Given the description of an element on the screen output the (x, y) to click on. 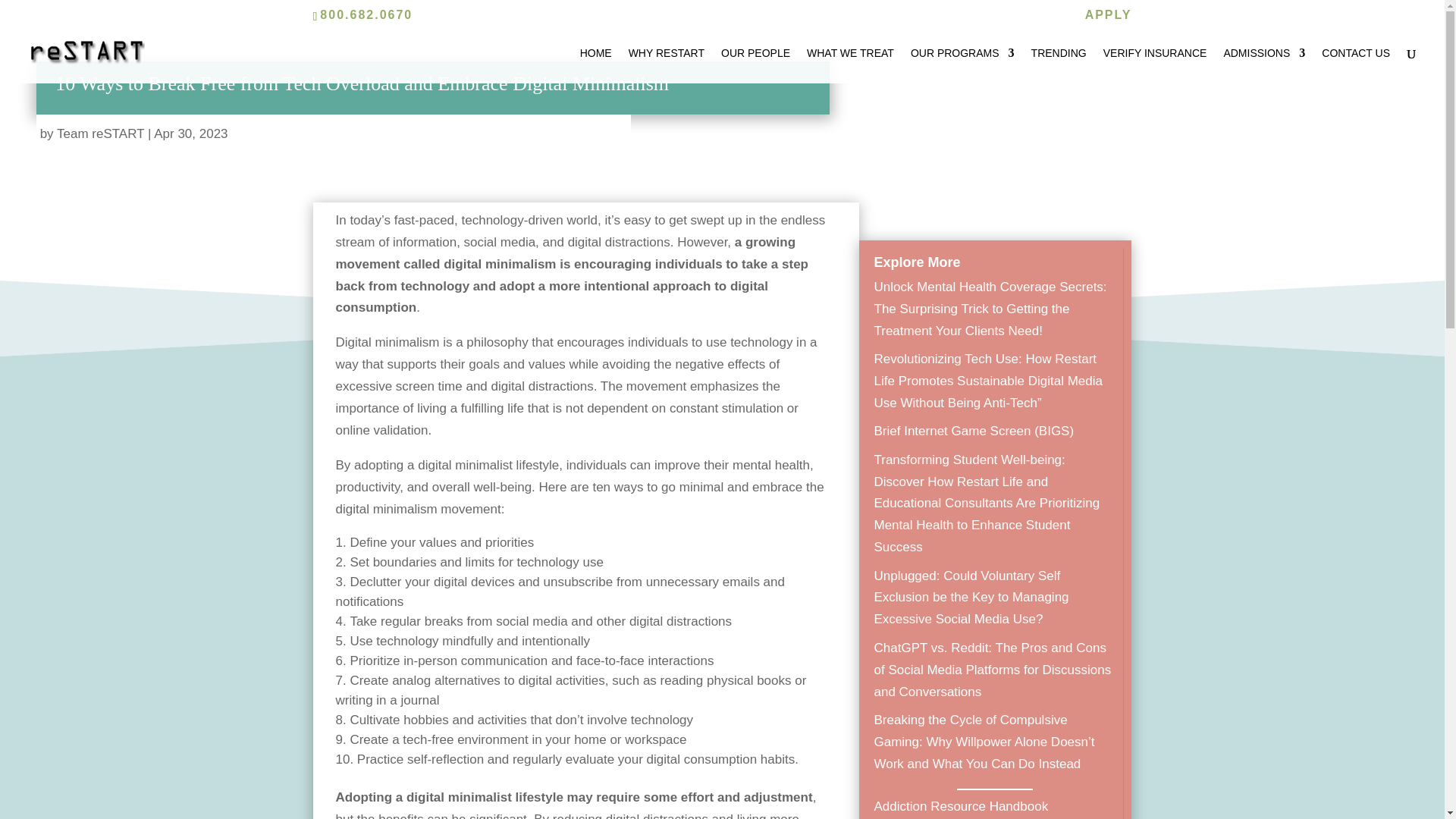
OUR PEOPLE (755, 65)
WHY RESTART (666, 65)
HOME (595, 65)
CONTACT US (1356, 65)
TRENDING (1058, 65)
ADMISSIONS (1263, 65)
VERIFY INSURANCE (1155, 65)
OUR PROGRAMS (962, 65)
Posts by Team reSTART (100, 133)
APPLY (1108, 19)
